Given the description of an element on the screen output the (x, y) to click on. 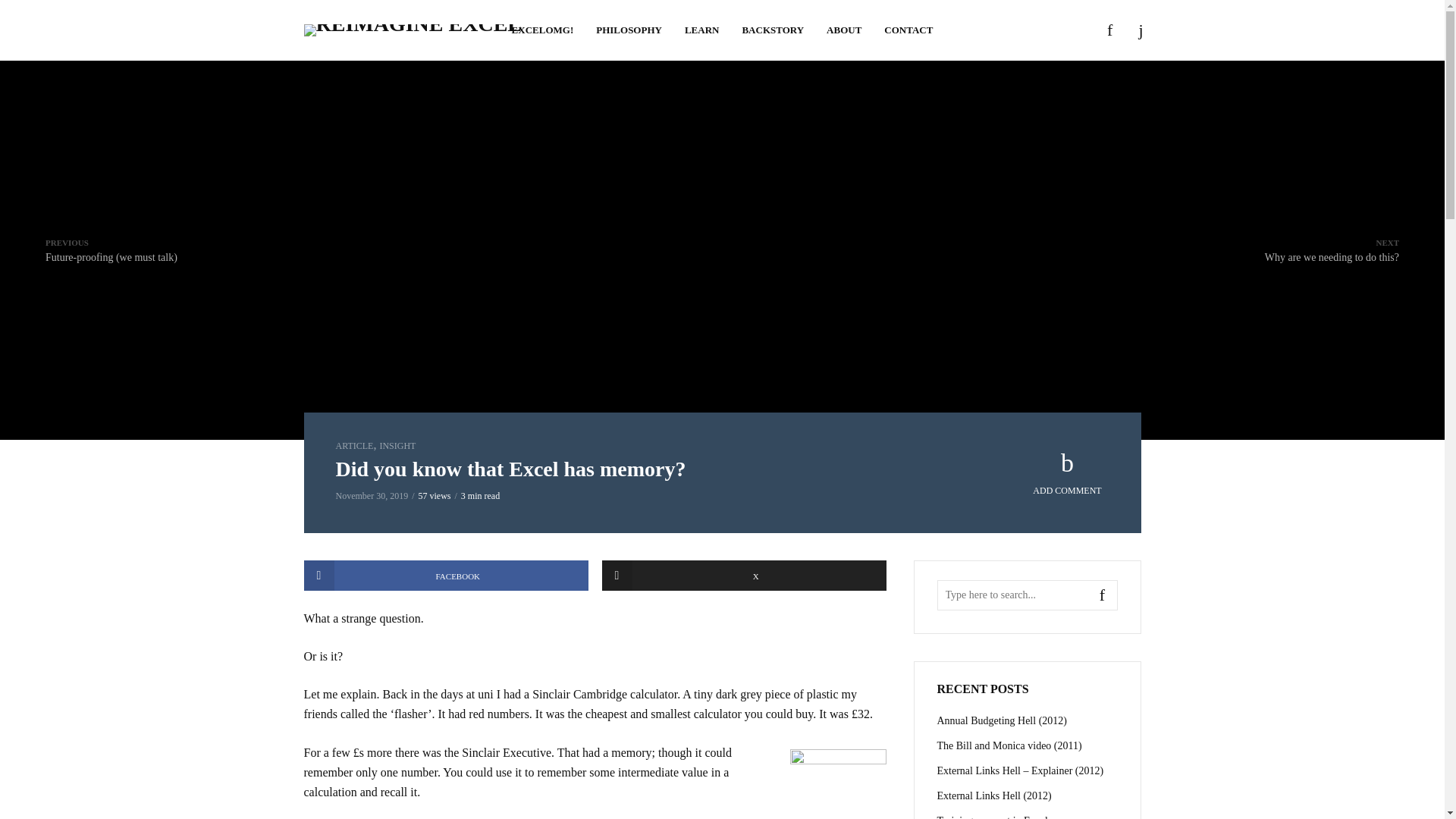
EXCELOMG! (1332, 250)
INSIGHT (542, 30)
ABOUT (396, 445)
PHILOSOPHY (843, 30)
X (628, 30)
ADD COMMENT (744, 575)
FACEBOOK (1067, 473)
BACKSTORY (445, 575)
ARTICLE (772, 30)
LEARN (353, 445)
CONTACT (701, 30)
